Given the description of an element on the screen output the (x, y) to click on. 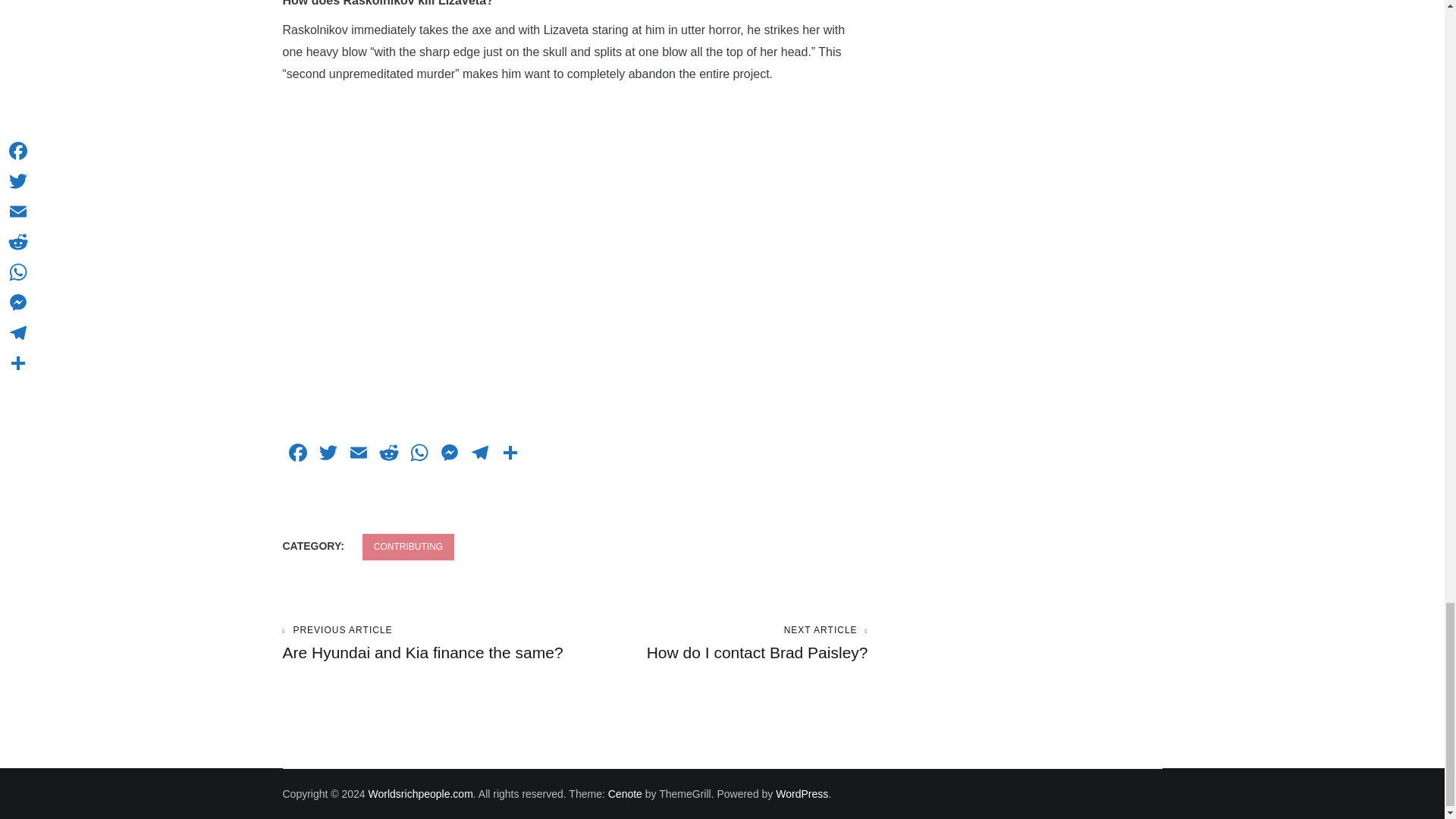
Facebook (297, 454)
Email (357, 454)
Twitter (327, 454)
Twitter (327, 454)
Worldsrichpeople.com (420, 793)
Telegram (479, 454)
Facebook (297, 454)
CONTRIBUTING (408, 546)
WhatsApp (418, 454)
Reddit (387, 454)
